Given the description of an element on the screen output the (x, y) to click on. 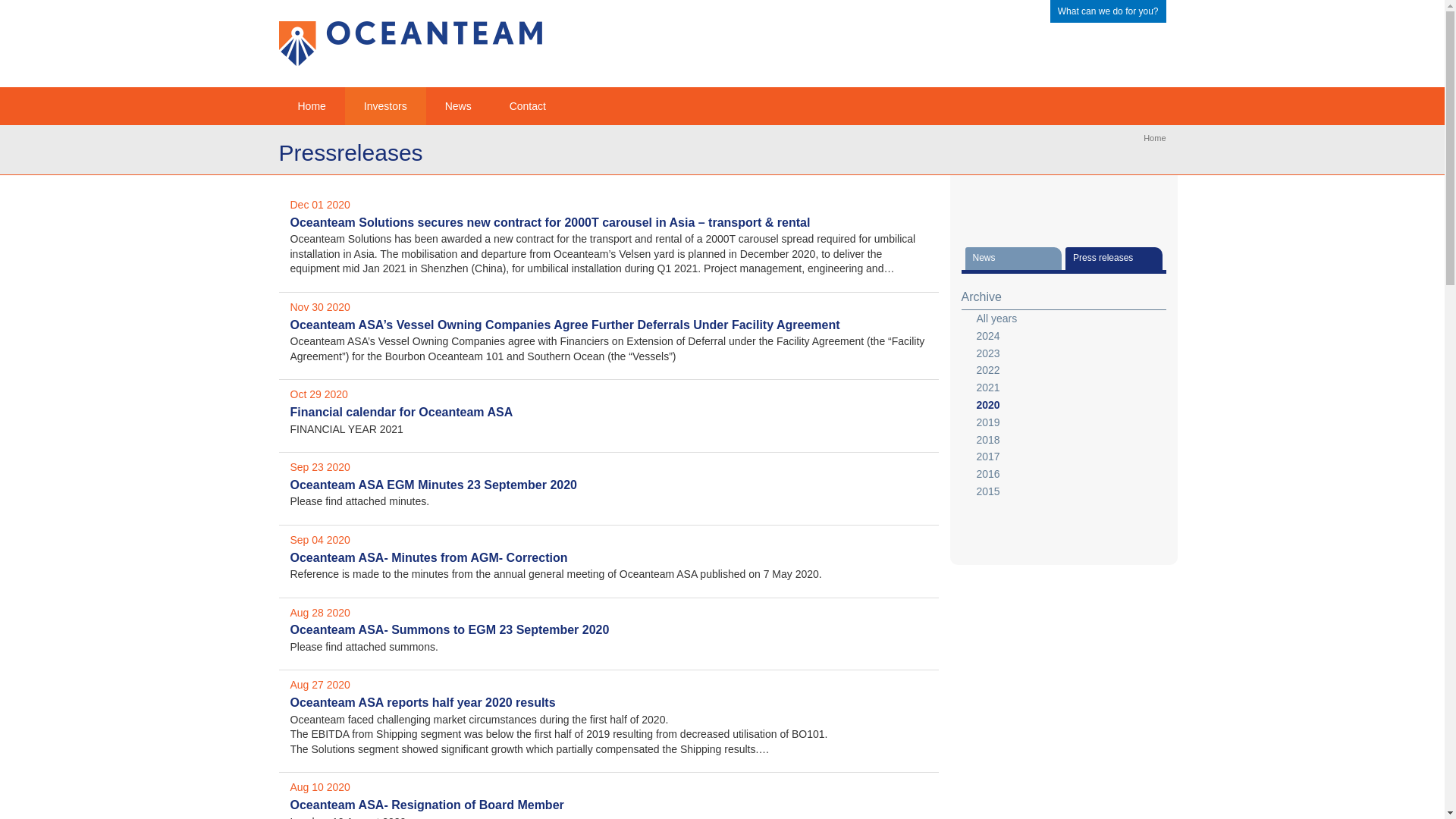
Investors (385, 105)
Oceanteam ASA- Minutes from AGM- Correction (428, 556)
Oceanteam (1154, 138)
Investors (385, 105)
Contact (527, 105)
Oceanteam ASA EGM Minutes 23 September 2020 (432, 484)
Oceanteam (312, 105)
News (458, 105)
Home (1154, 138)
Oceanteam ASA- Resignation of Board Member (426, 804)
